Given the description of an element on the screen output the (x, y) to click on. 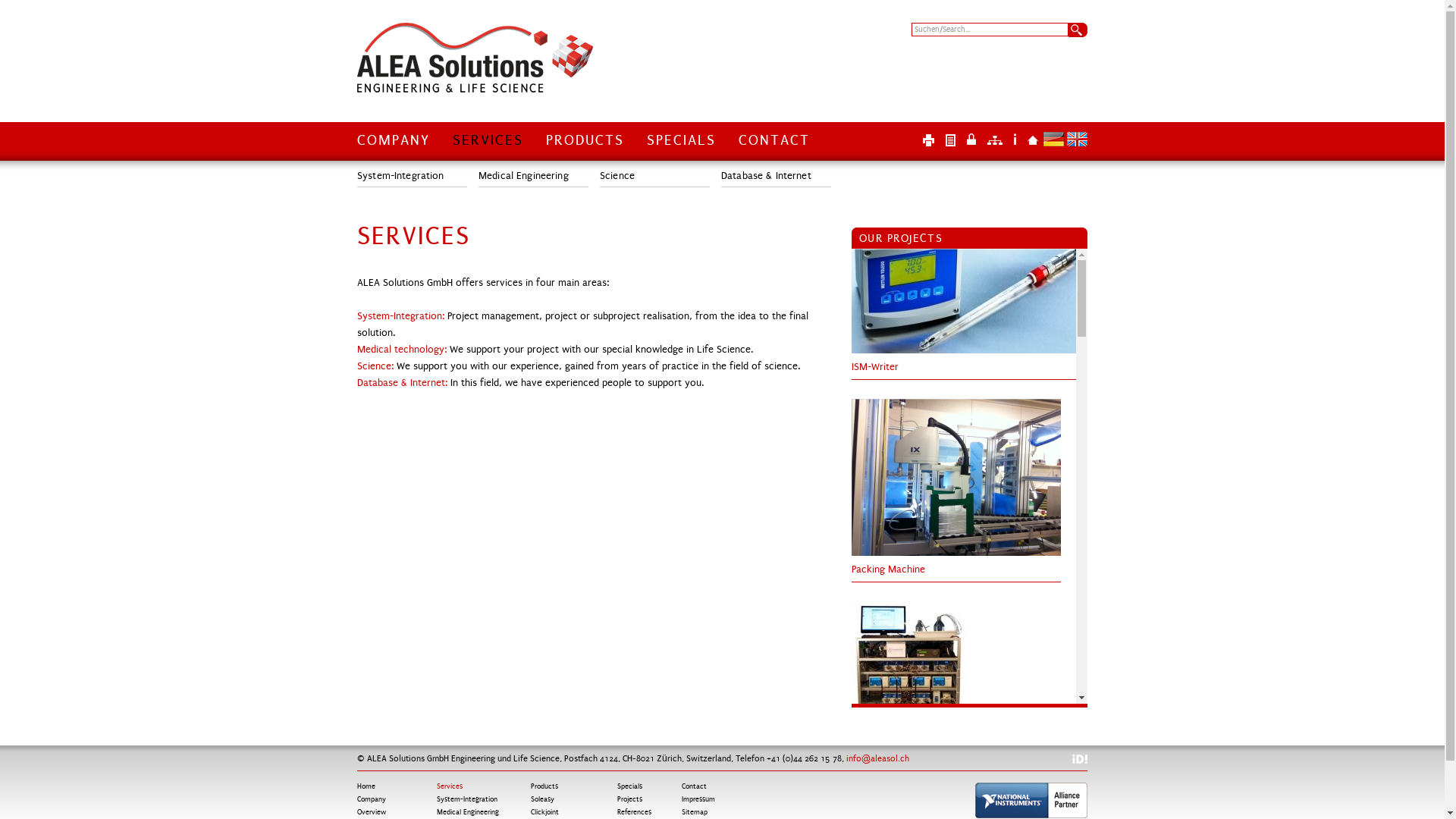
Impressum Element type: text (1014, 138)
Science: Element type: text (375, 366)
System-Integration Element type: text (466, 798)
PRODUCTS Element type: text (585, 147)
Projects Element type: text (629, 798)
Packing Machine Element type: hover (955, 552)
English Element type: hover (1076, 138)
Sitemap Element type: text (694, 811)
Print this page Element type: hover (932, 143)
Medical technology: Element type: text (401, 349)
Overview Element type: text (371, 811)
Database & Internet Element type: text (776, 174)
Login Element type: text (970, 138)
Chromatographic plant Element type: hover (915, 755)
Specials Element type: text (629, 785)
COMPANY Element type: text (393, 147)
Medical Engineering Element type: text (467, 811)
System-Integration Element type: text (412, 174)
References Element type: text (634, 811)
Clickjoint Element type: text (544, 811)
Sitemap Element type: text (994, 138)
Contact Element type: text (693, 785)
Soleasy Element type: text (542, 798)
Medical Engineering Element type: text (533, 174)
System-Integration: Element type: text (400, 316)
Print article as PDF Element type: hover (955, 143)
ISM-Writer Element type: hover (969, 350)
Products Element type: text (544, 785)
SPECIALS Element type: text (680, 147)
info@aleasol.ch Element type: text (877, 758)
Company Element type: text (371, 798)
Science Element type: text (654, 174)
Home Element type: text (1032, 138)
CONTACT Element type: text (773, 136)
Database & Internet: Element type: text (403, 382)
Impressum Element type: text (698, 798)
German Element type: hover (1053, 138)
Home Element type: text (366, 785)
